Given the description of an element on the screen output the (x, y) to click on. 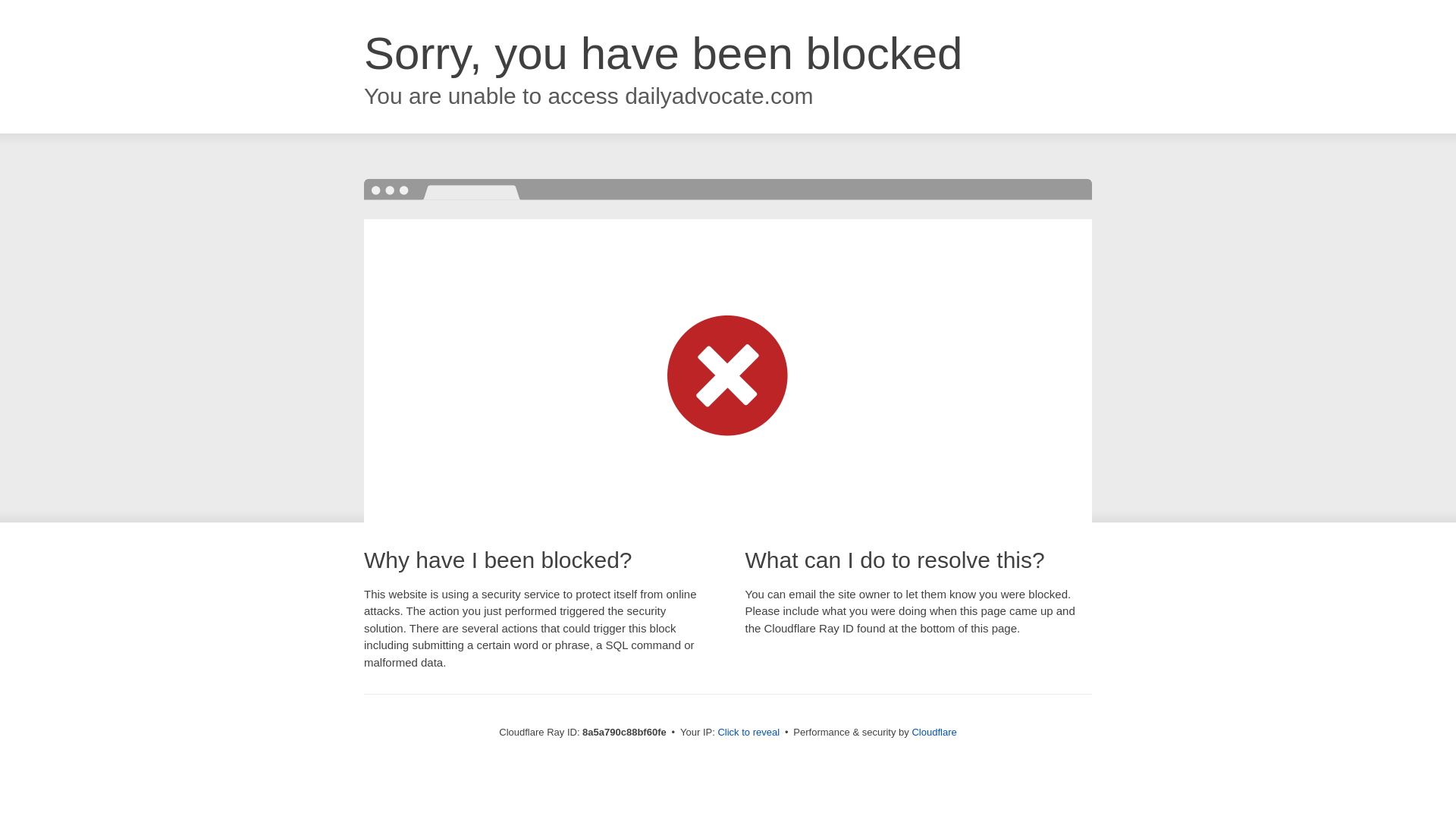
Cloudflare (933, 731)
Click to reveal (747, 732)
